Given the description of an element on the screen output the (x, y) to click on. 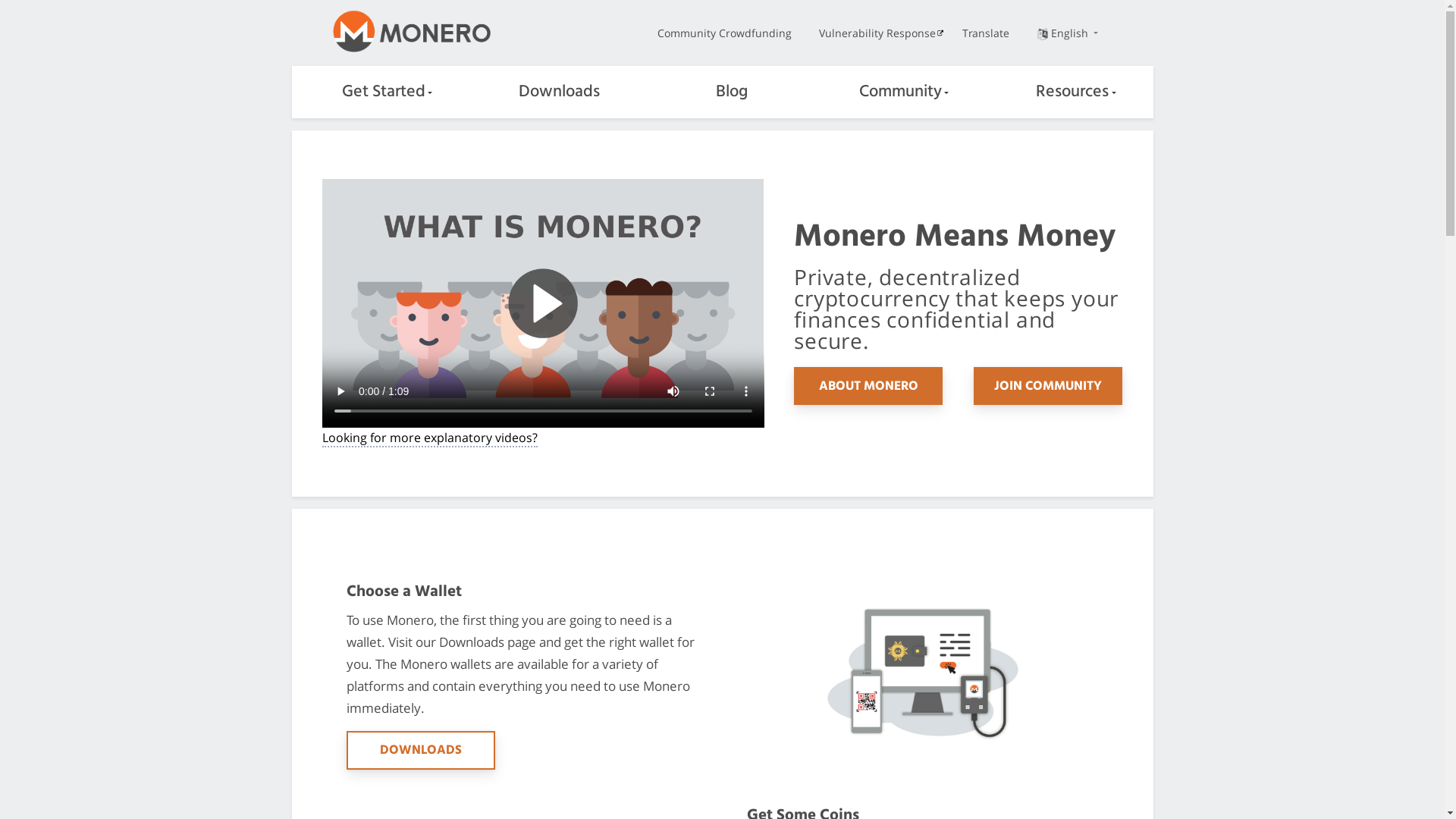
Vulnerability Response Element type: text (874, 32)
Blog Element type: text (722, 92)
Community Crowdfunding Element type: text (724, 32)
ABOUT MONERO Element type: text (867, 385)
DOWNLOADS Element type: text (419, 749)
Downloads Element type: text (550, 92)
Looking for more explanatory videos? Element type: text (428, 438)
JOIN COMMUNITY Element type: text (1047, 385)
Translate Element type: text (985, 32)
